Given the description of an element on the screen output the (x, y) to click on. 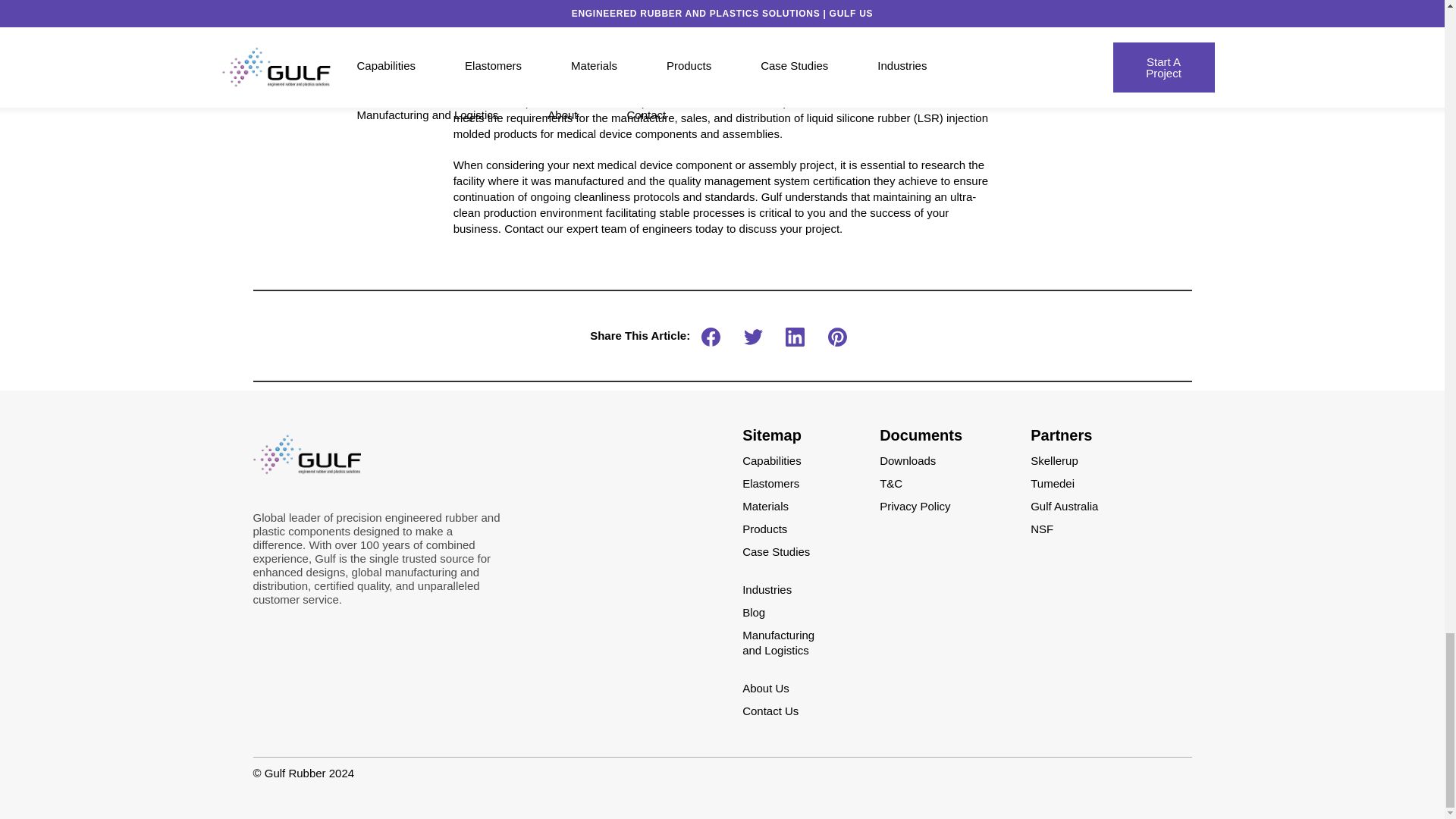
Elastomers (774, 482)
Manufacturing and Logistics (777, 649)
Skellerup (1058, 460)
Materials (769, 505)
About Us (769, 687)
Privacy Policy (918, 505)
Downloads (911, 460)
Capabilities (775, 460)
Tumedei (1055, 482)
Blog (757, 612)
